Given the description of an element on the screen output the (x, y) to click on. 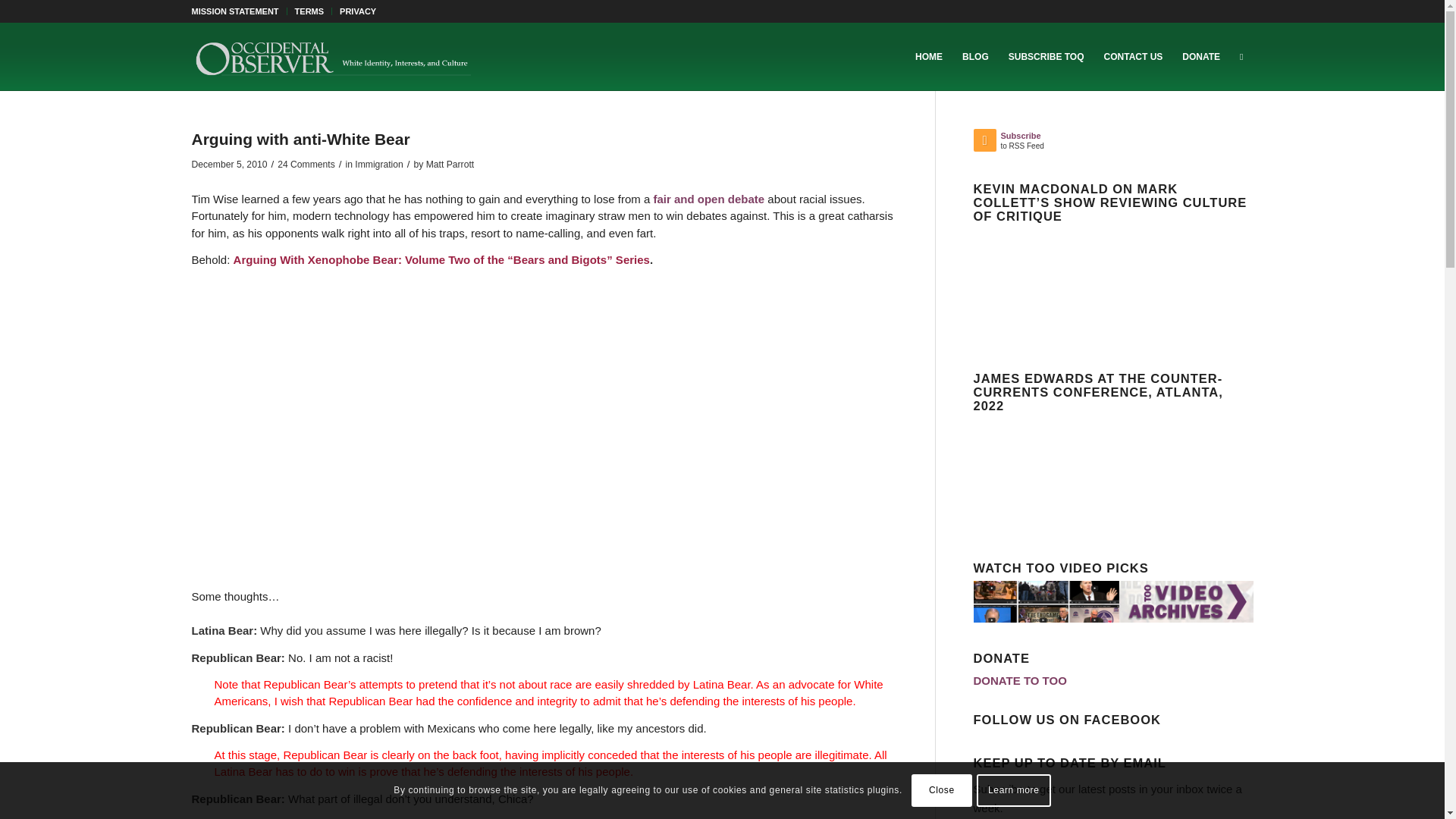
fair and open debate (708, 198)
TERMS (309, 11)
Posts by Matt Parrott (450, 163)
Matt Parrott (450, 163)
Immigration (379, 163)
CONTACT US (1133, 56)
Contact Us (1133, 56)
SUBSCRIBE TOQ (1046, 56)
MISSION STATEMENT (234, 11)
PRIVACY (357, 11)
24 Comments (306, 163)
